Given the description of an element on the screen output the (x, y) to click on. 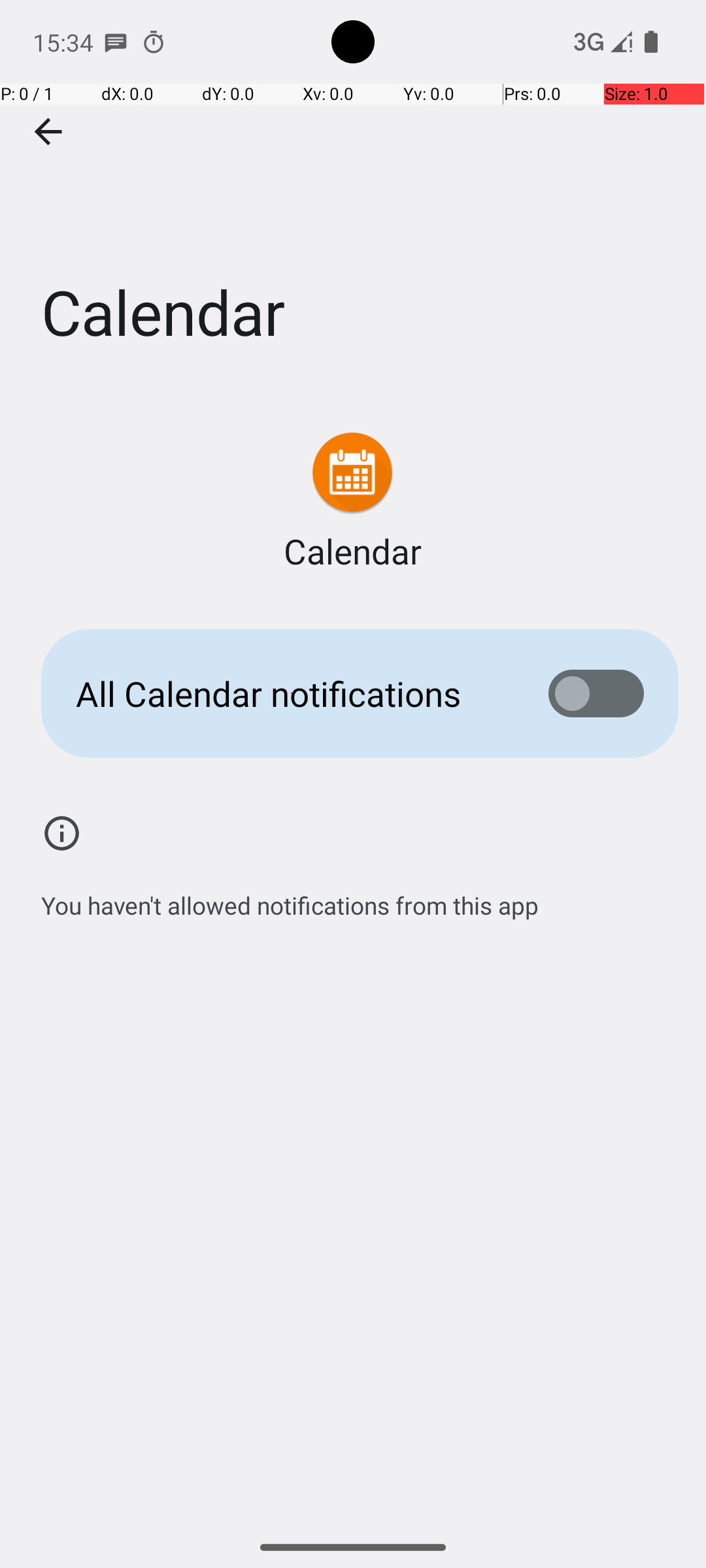
You haven't allowed notifications from this app Element type: android.widget.TextView (290, 898)
